Given the description of an element on the screen output the (x, y) to click on. 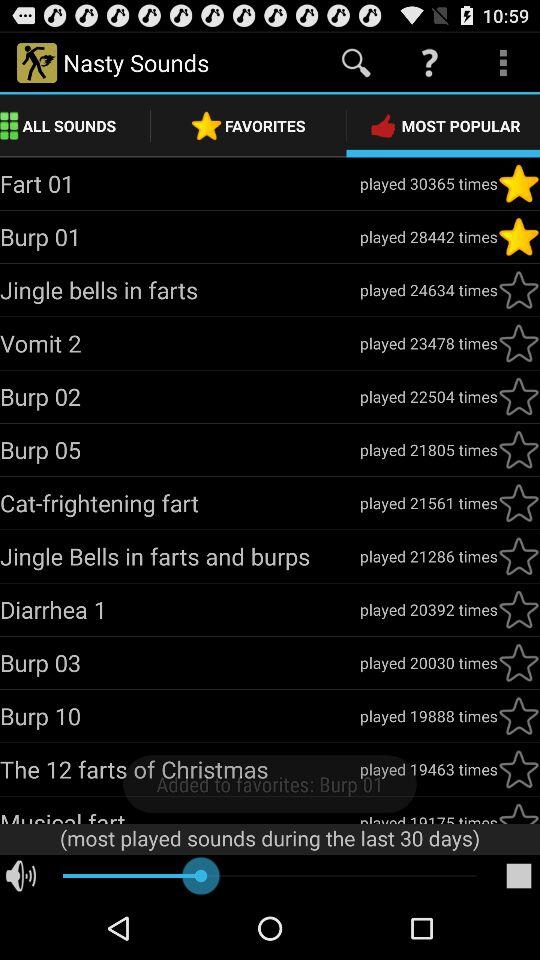
press icon to the right of jingle bells in app (428, 555)
